Given the description of an element on the screen output the (x, y) to click on. 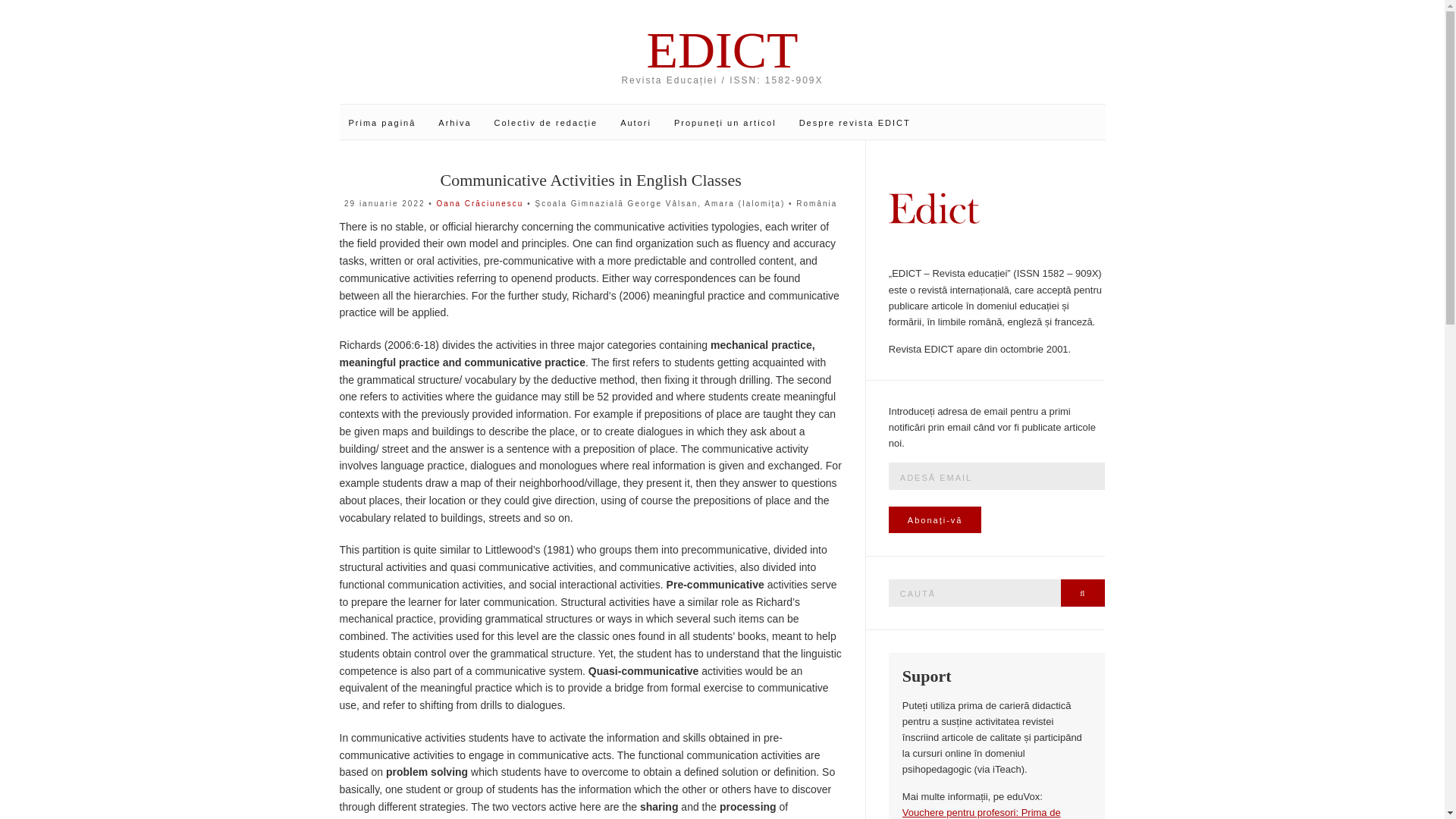
Arhiva (454, 123)
Search (1083, 592)
Autori (635, 123)
EDICT (722, 49)
Despre revista EDICT (855, 123)
